Given the description of an element on the screen output the (x, y) to click on. 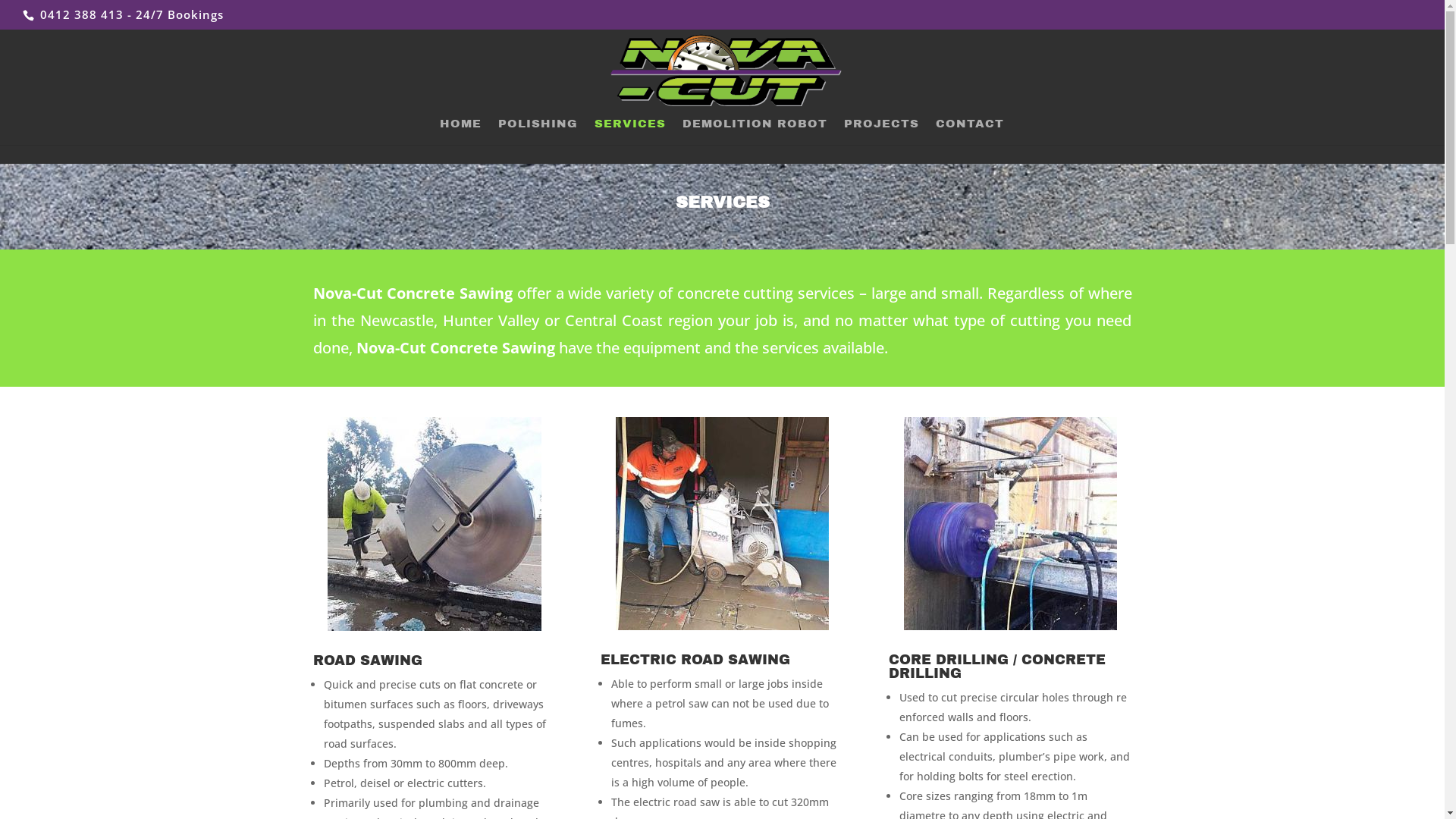
CONTACT Element type: text (969, 131)
PROJECTS Element type: text (880, 131)
DEMOLITION ROBOT Element type: text (754, 131)
HOME Element type: text (460, 131)
POLISHING Element type: text (537, 131)
SERVICES Element type: text (629, 131)
